Given the description of an element on the screen output the (x, y) to click on. 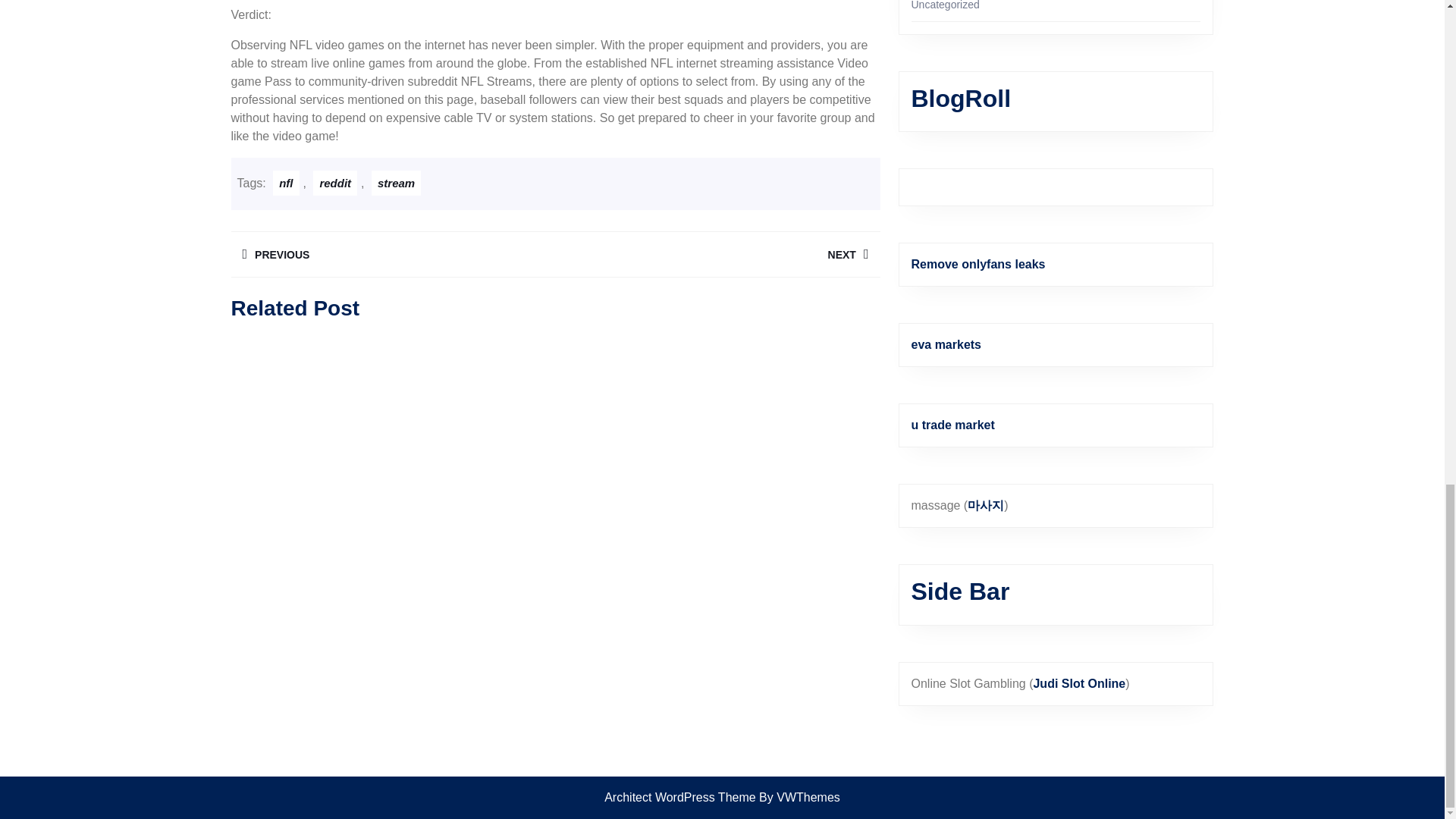
nfl (285, 182)
reddit (716, 253)
stream (334, 182)
